Given the description of an element on the screen output the (x, y) to click on. 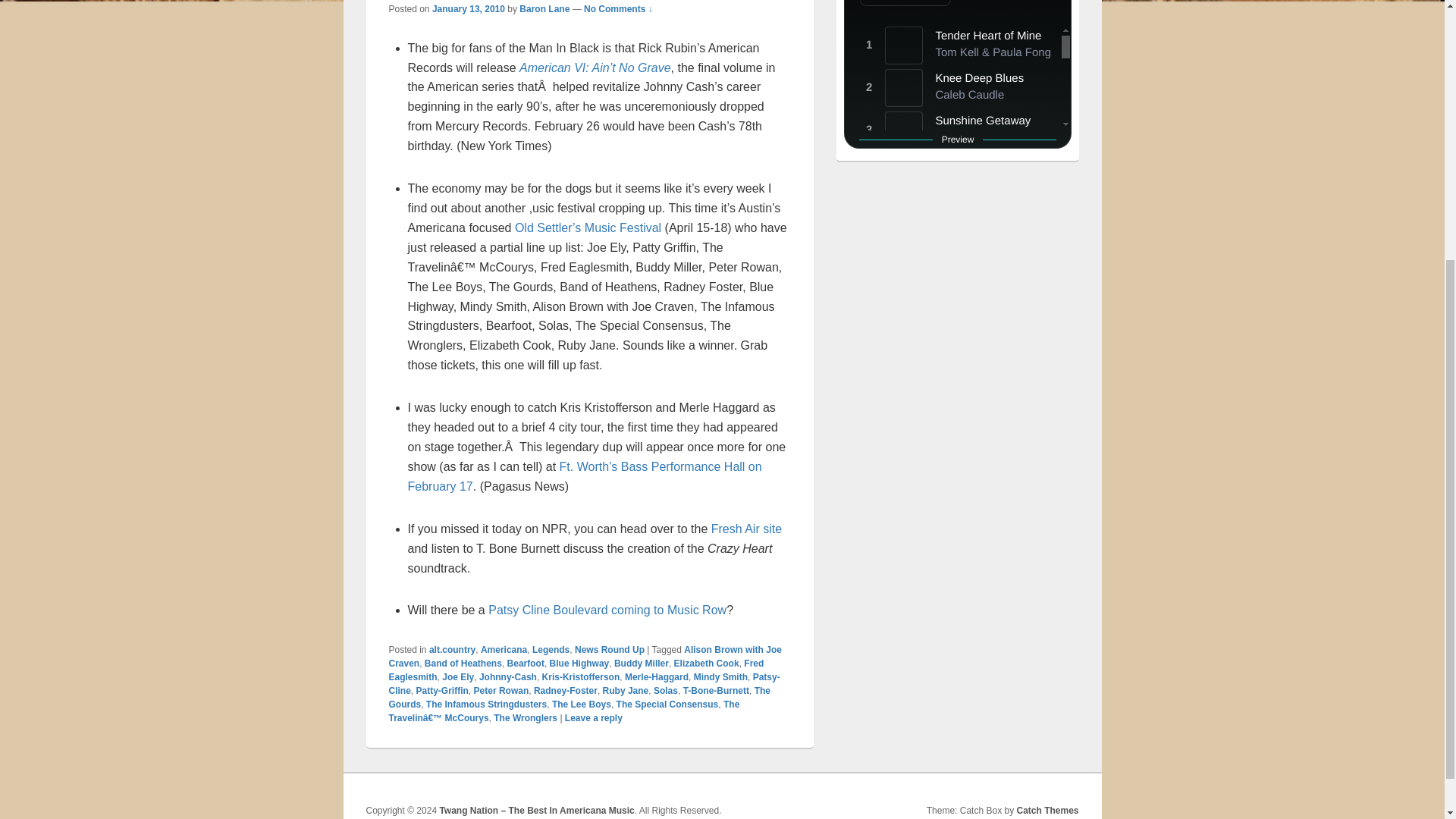
Catch Themes (1047, 810)
Merle-Haggard (656, 676)
alt.country (452, 649)
View all posts by Baron Lane (544, 9)
January 13, 2010 (468, 9)
Fresh Air site (746, 528)
Blue Highway (580, 663)
Buddy Miller (641, 663)
Bearfoot (525, 663)
Elizabeth Cook (706, 663)
